Given the description of an element on the screen output the (x, y) to click on. 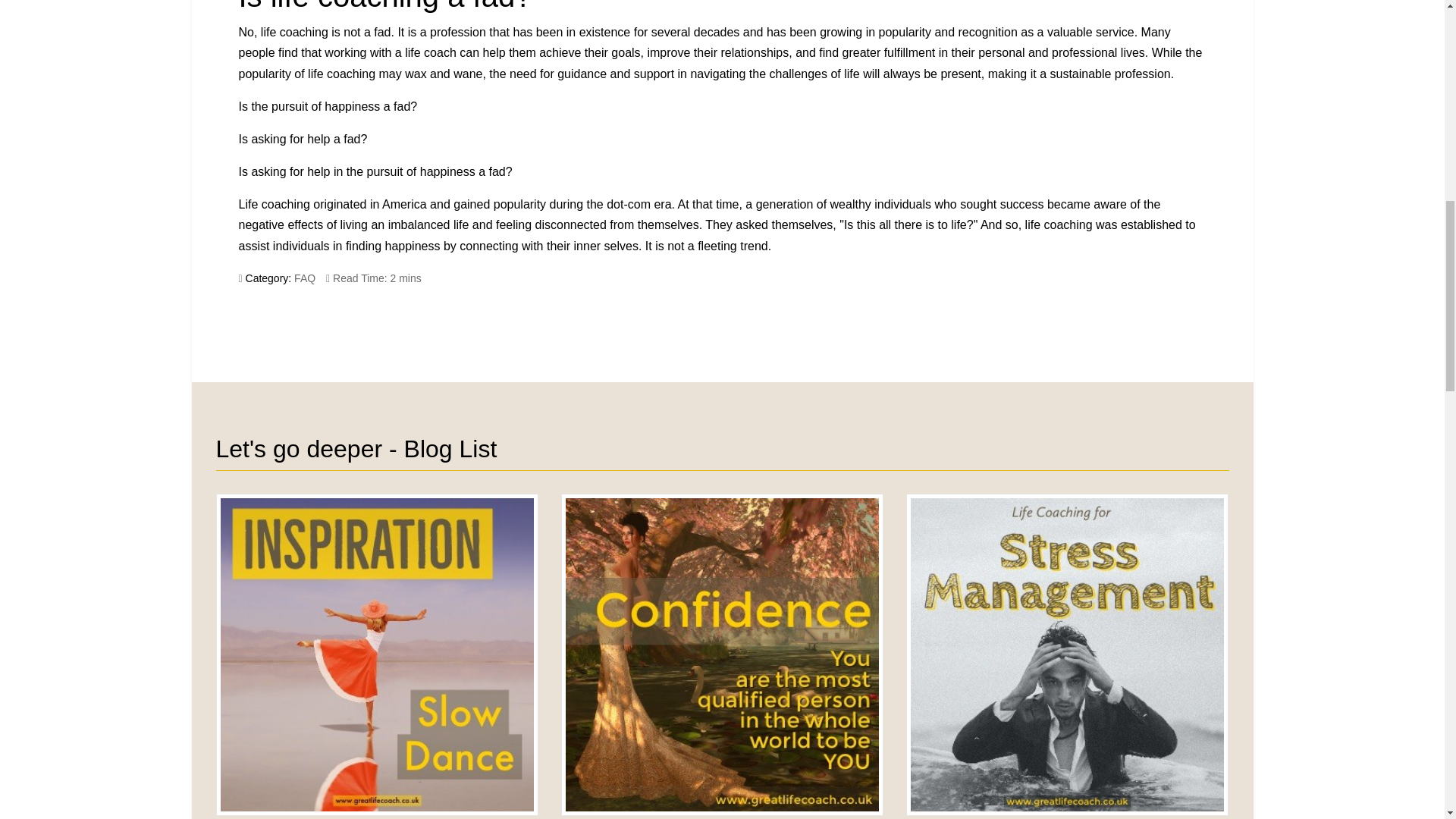
Life Coaching for Confidence (721, 654)
FAQ (1180, 316)
Stress and Overwhelm (264, 316)
Inspiration - Slow Dance (304, 277)
